Given the description of an element on the screen output the (x, y) to click on. 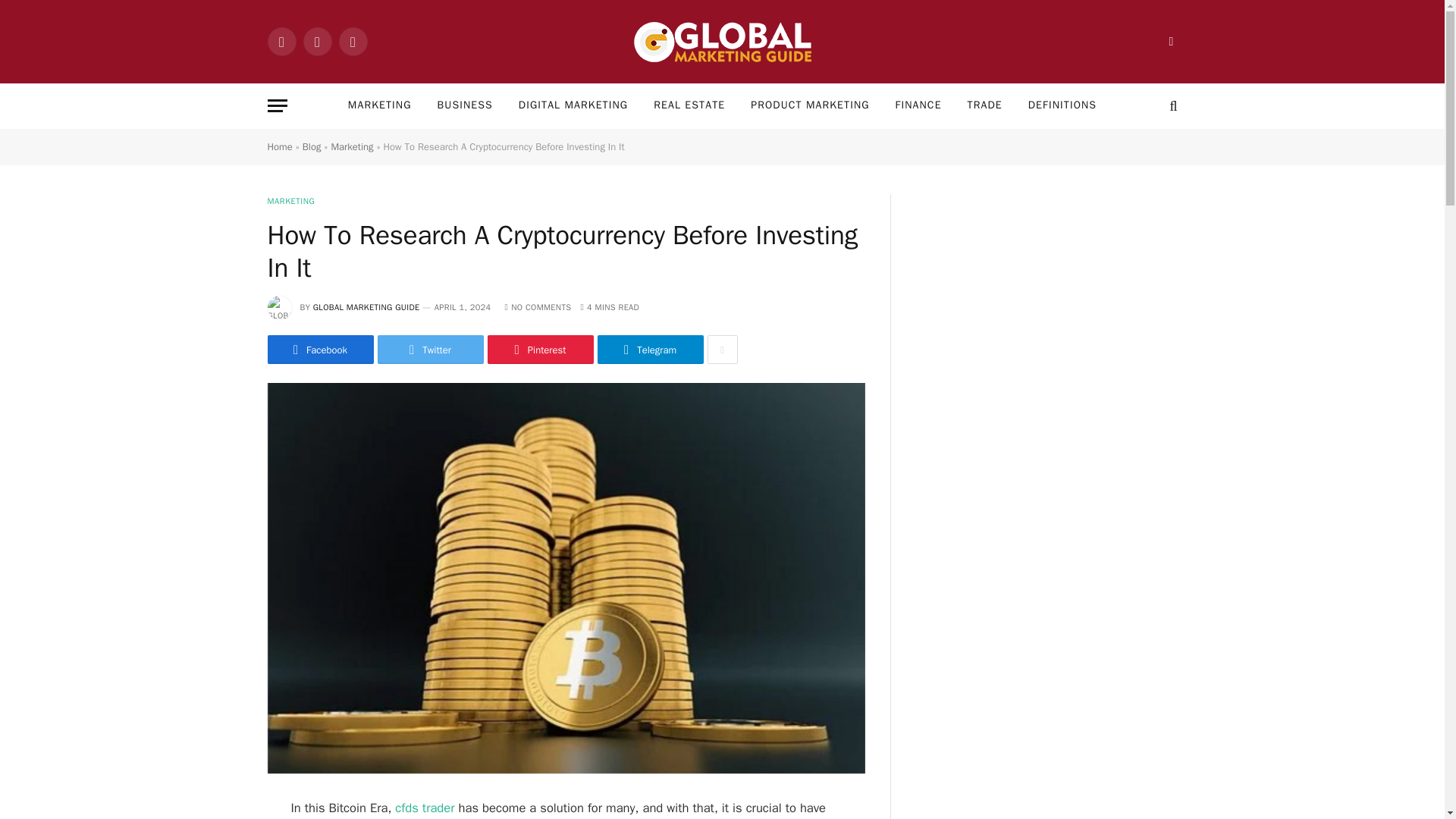
Posts by Global Marketing Guide (366, 307)
Switch to Dark Design - easier on eyes. (1168, 41)
Facebook (280, 41)
BUSINESS (465, 105)
Instagram (351, 41)
MARKETING (379, 105)
REAL ESTATE (689, 105)
DEFINITIONS (1061, 105)
FINANCE (918, 105)
Global Marketing Guide (721, 40)
DIGITAL MARKETING (572, 105)
TRADE (984, 105)
PRODUCT MARKETING (810, 105)
